Given the description of an element on the screen output the (x, y) to click on. 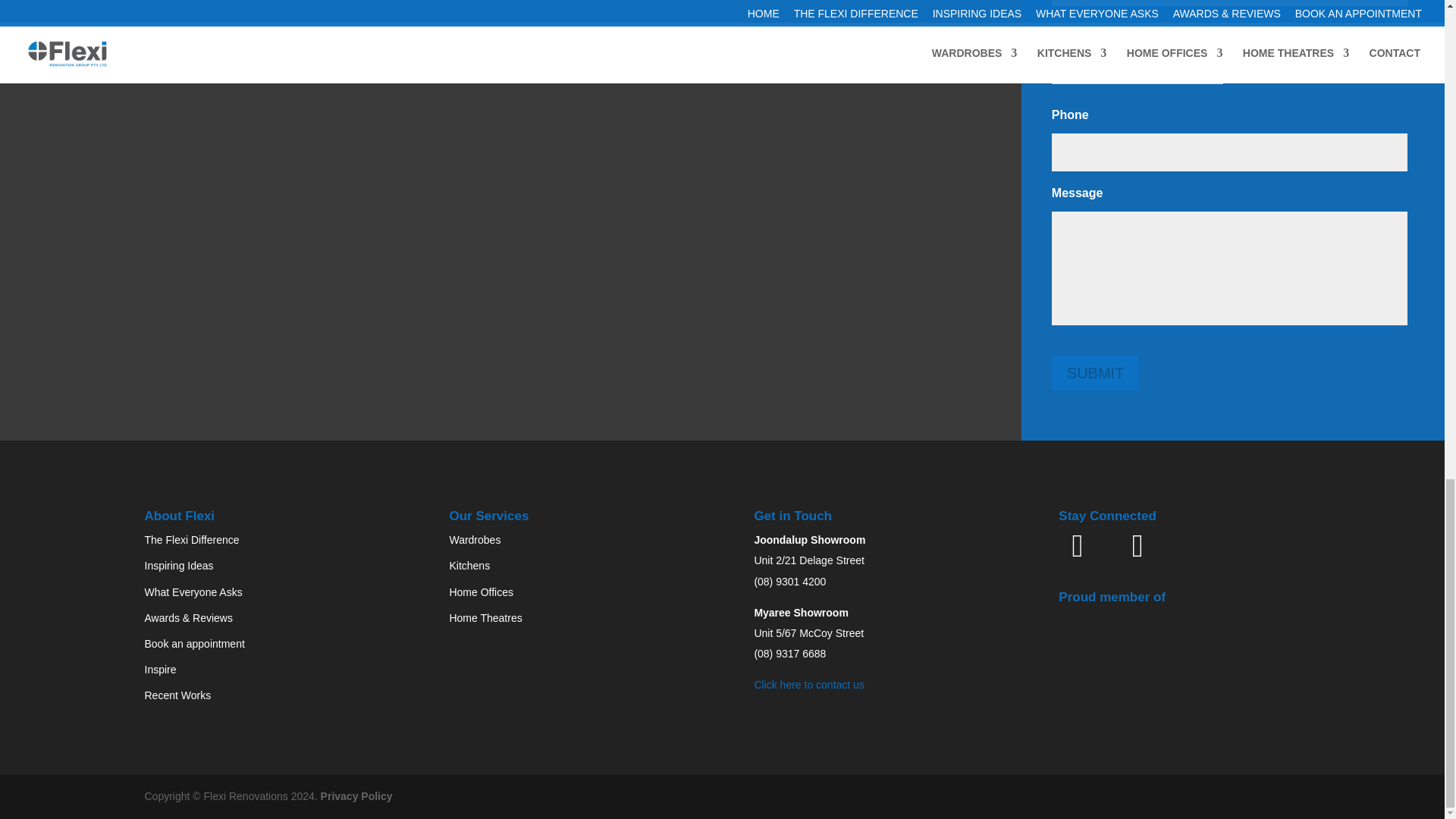
Myree phone number (789, 653)
Book an appointment (194, 644)
SUBMIT (1095, 372)
Inspire (160, 669)
What Everyone Asks (192, 592)
Joondalup phone number (789, 581)
Recent Works (177, 695)
Inspiring Ideas (178, 565)
The Flexi Difference (191, 539)
